Given the description of an element on the screen output the (x, y) to click on. 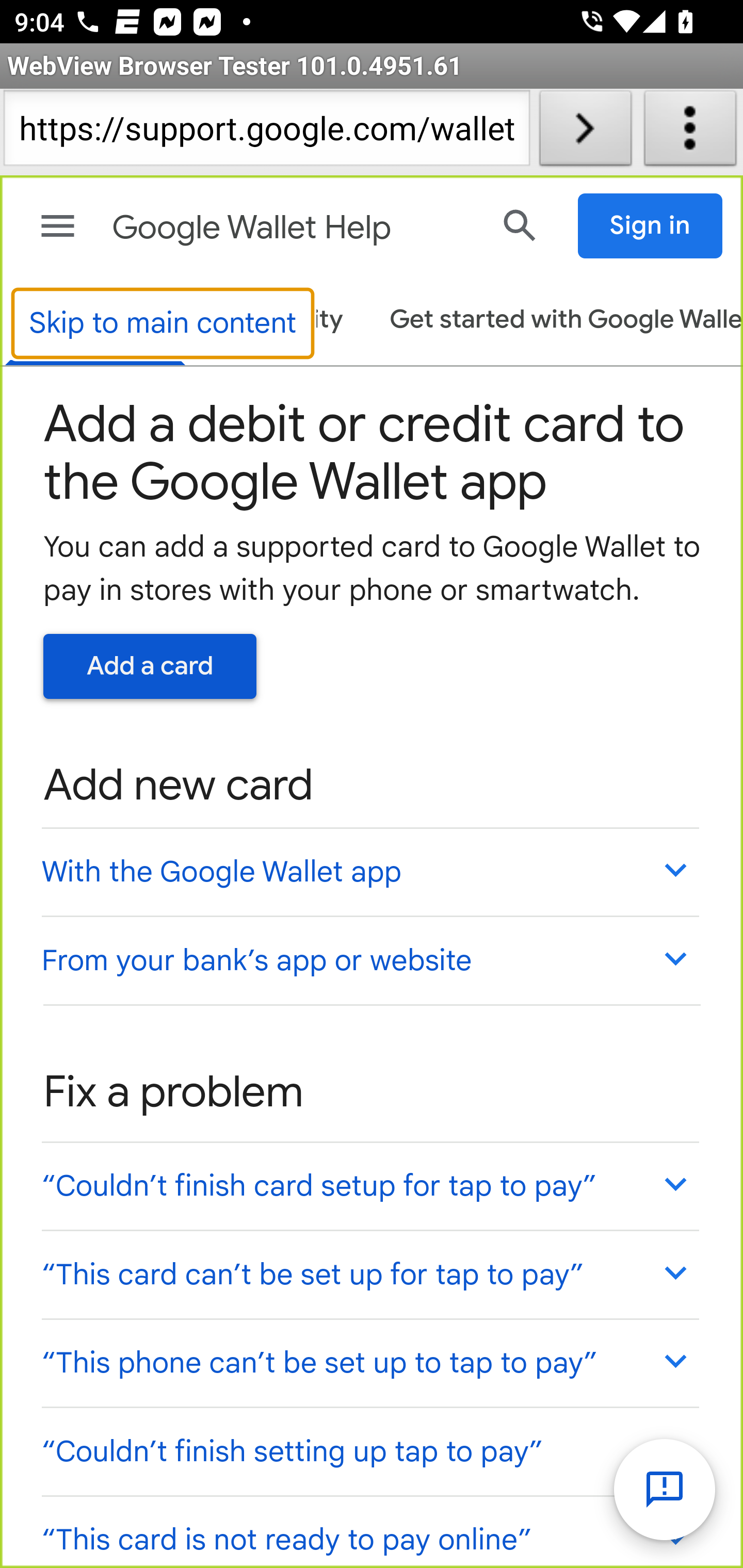
Load URL (585, 132)
About WebView (690, 132)
Main menu (58, 226)
Google Wallet Help (292, 227)
Search Help Center (519, 225)
Sign in (650, 226)
Get started with Google Wallet (555, 320)
Skip to main content (163, 324)
Add a card (150, 666)
With the Google Wallet app (369, 870)
From your bank’s app or website (369, 960)
“Couldn’t finish card setup for tap to pay” (369, 1184)
“This card can’t be set up for tap to pay” (369, 1274)
“This phone can’t be set up to tap to pay” (369, 1360)
“Couldn’t finish setting up tap to pay” (369, 1451)
“This card is not ready to pay online” (369, 1530)
